Given the description of an element on the screen output the (x, y) to click on. 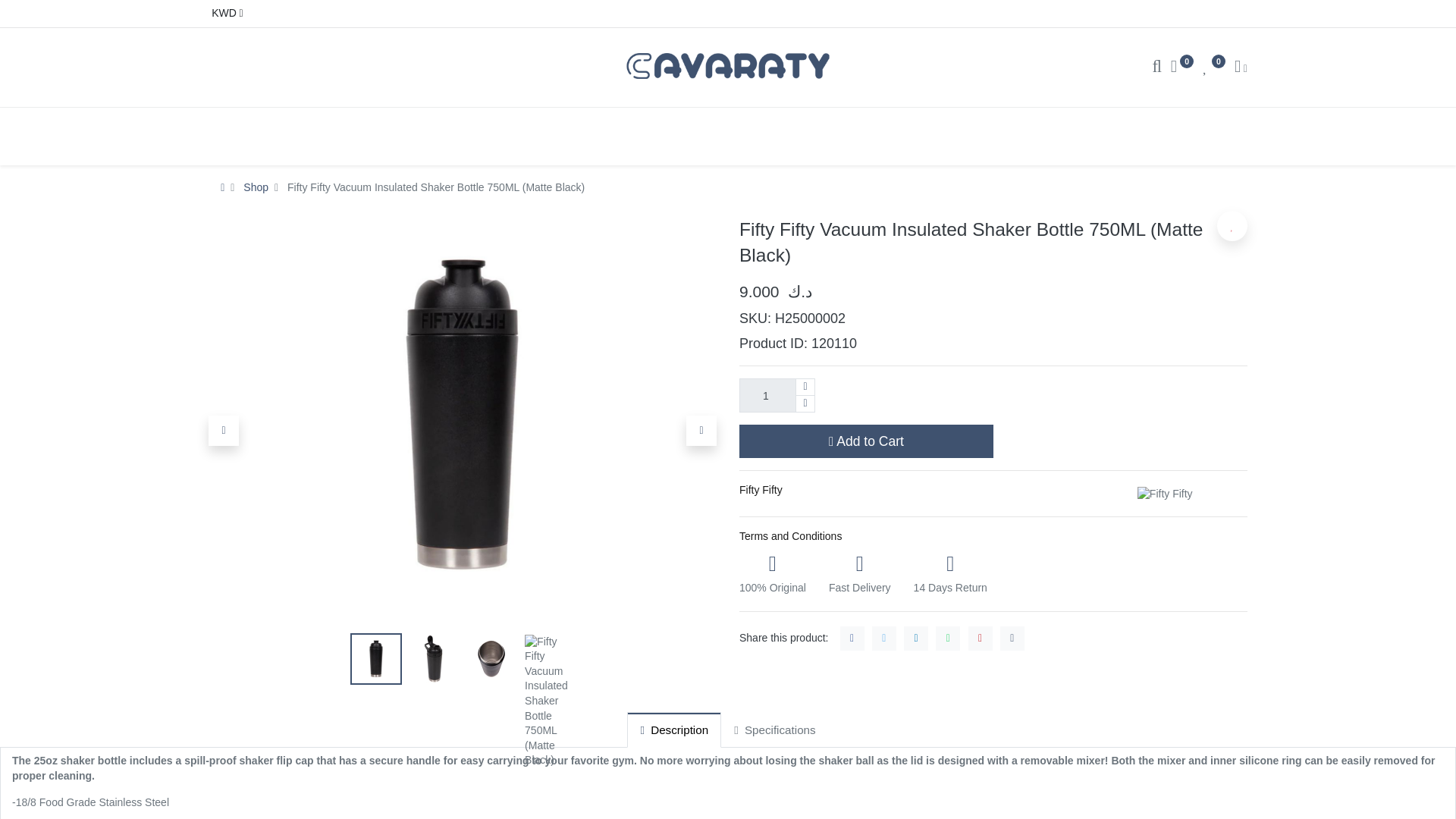
0 (1213, 68)
0 (1181, 68)
CAVARATY (727, 64)
1 (777, 395)
KWD (225, 13)
